Given the description of an element on the screen output the (x, y) to click on. 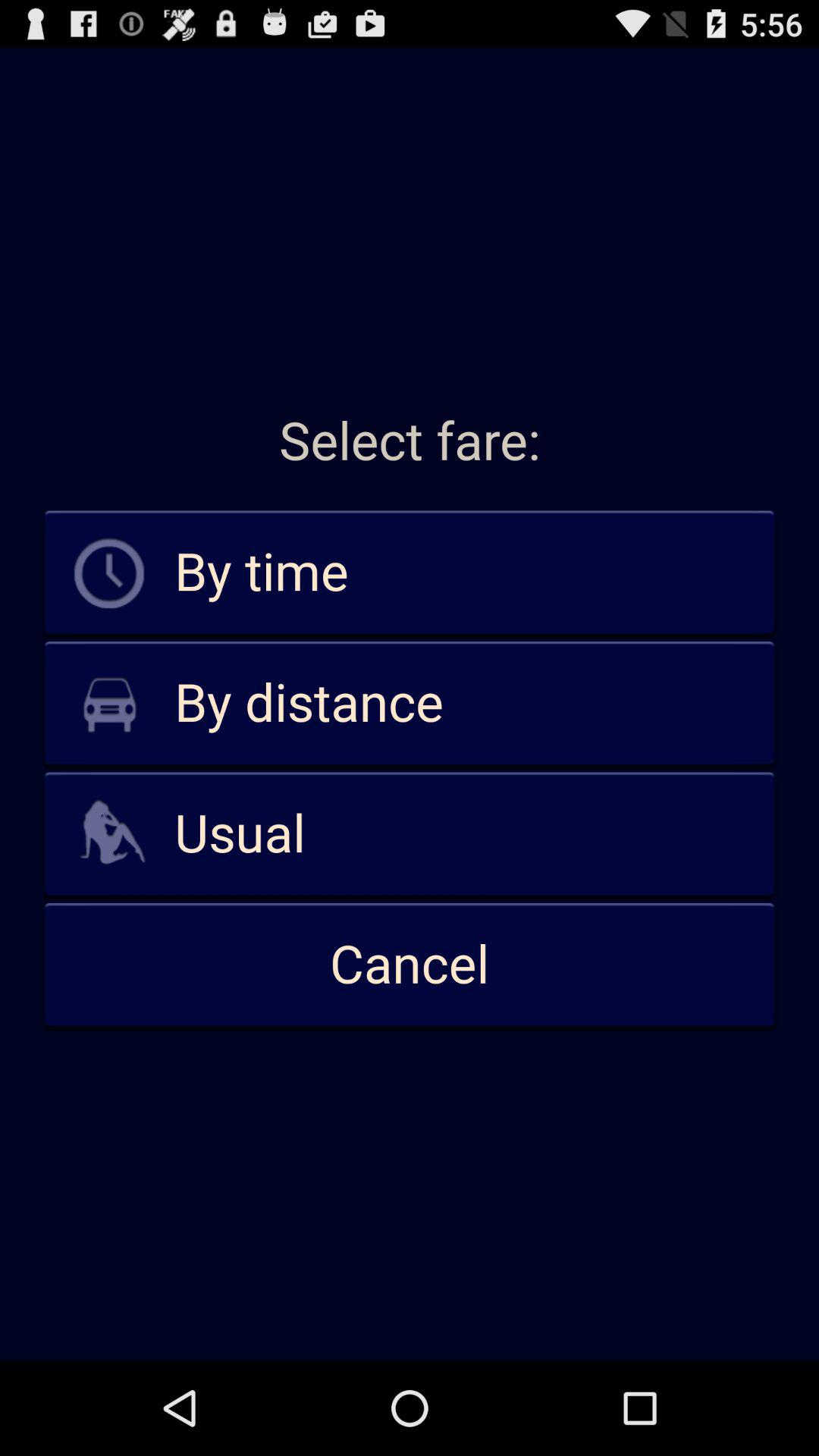
launch icon above cancel item (409, 834)
